Given the description of an element on the screen output the (x, y) to click on. 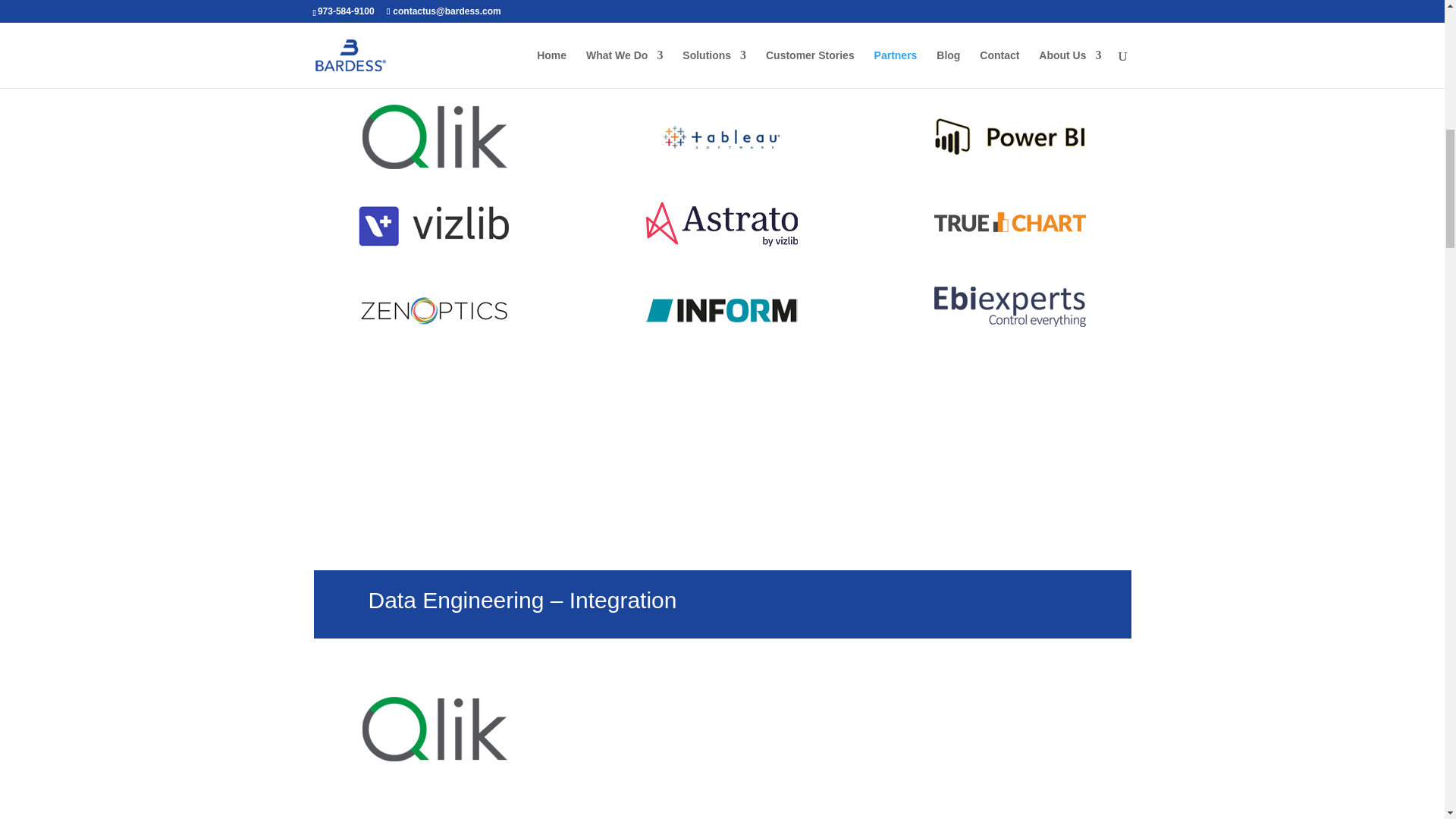
Mail Deploy (434, 392)
Astrato (721, 223)
AnalyticsGate (721, 397)
Qlik 2024 (434, 136)
Zenoptics (434, 310)
Vizlib logo (434, 223)
